Given the description of an element on the screen output the (x, y) to click on. 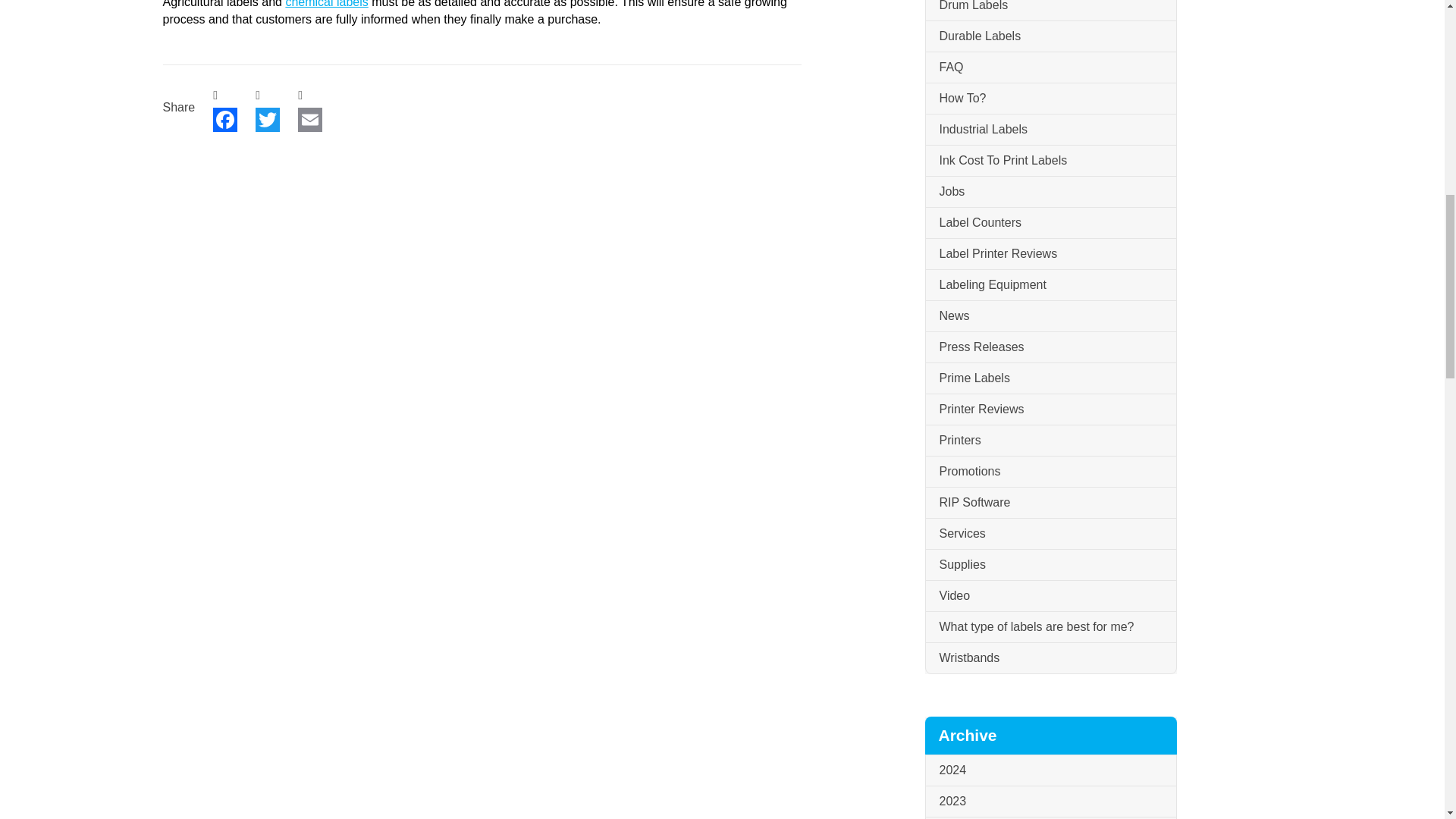
Durable Labels (1049, 36)
Label Counters (1049, 223)
Press Releases (1049, 347)
Label Printer Reviews (1049, 254)
chemical labels (326, 4)
Ink Cost To Print Labels (1049, 160)
News (1049, 316)
Industrial Labels (1049, 129)
FAQ (1049, 67)
How To? (1049, 98)
